Given the description of an element on the screen output the (x, y) to click on. 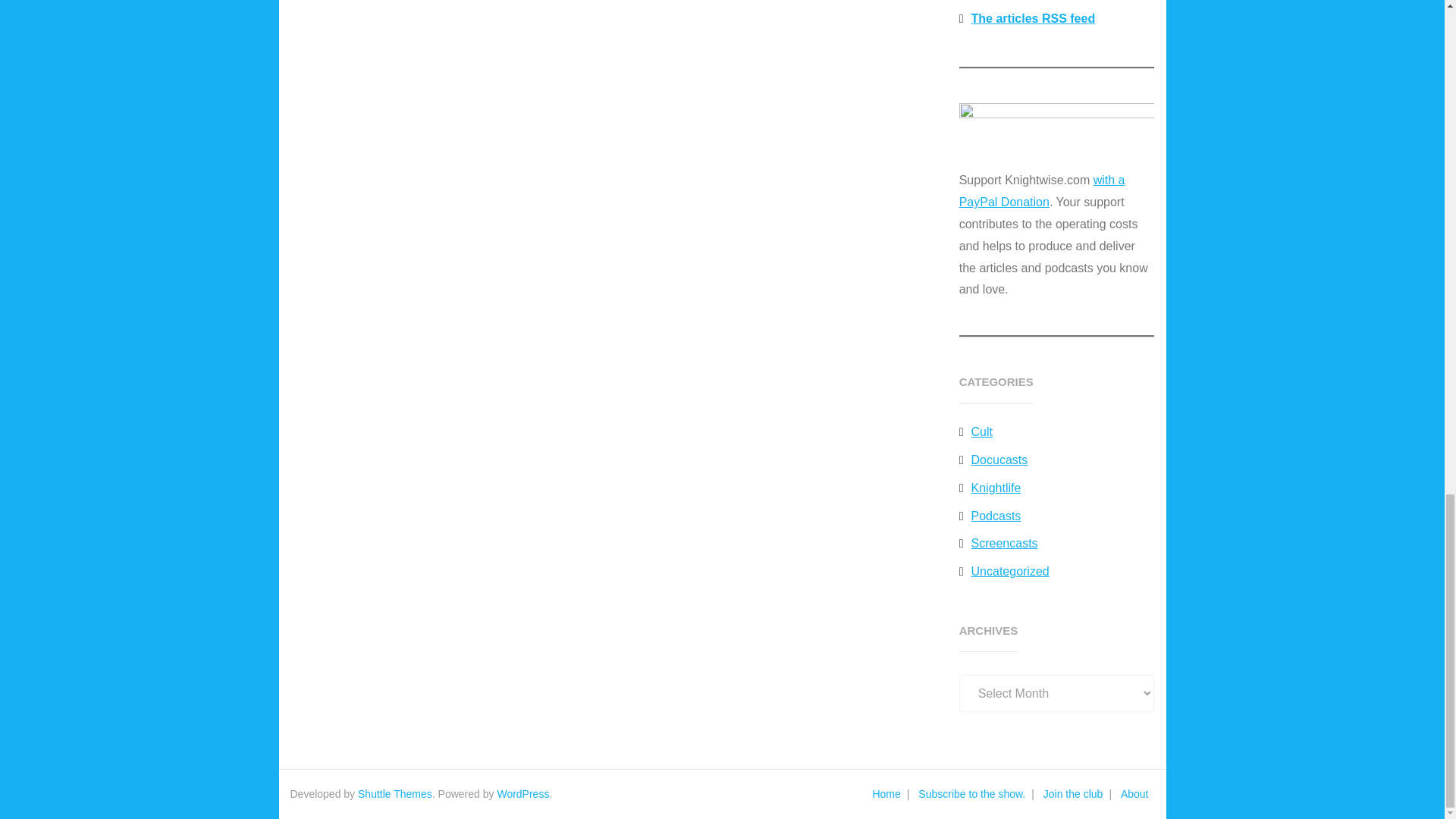
The podcast RSS feed (1029, 2)
Cult (975, 432)
The articles RSS feed (1026, 18)
Docucasts (993, 460)
Screencasts (998, 543)
with a PayPal Donation (1042, 190)
Knightlife (990, 488)
Podcasts (990, 516)
